Given the description of an element on the screen output the (x, y) to click on. 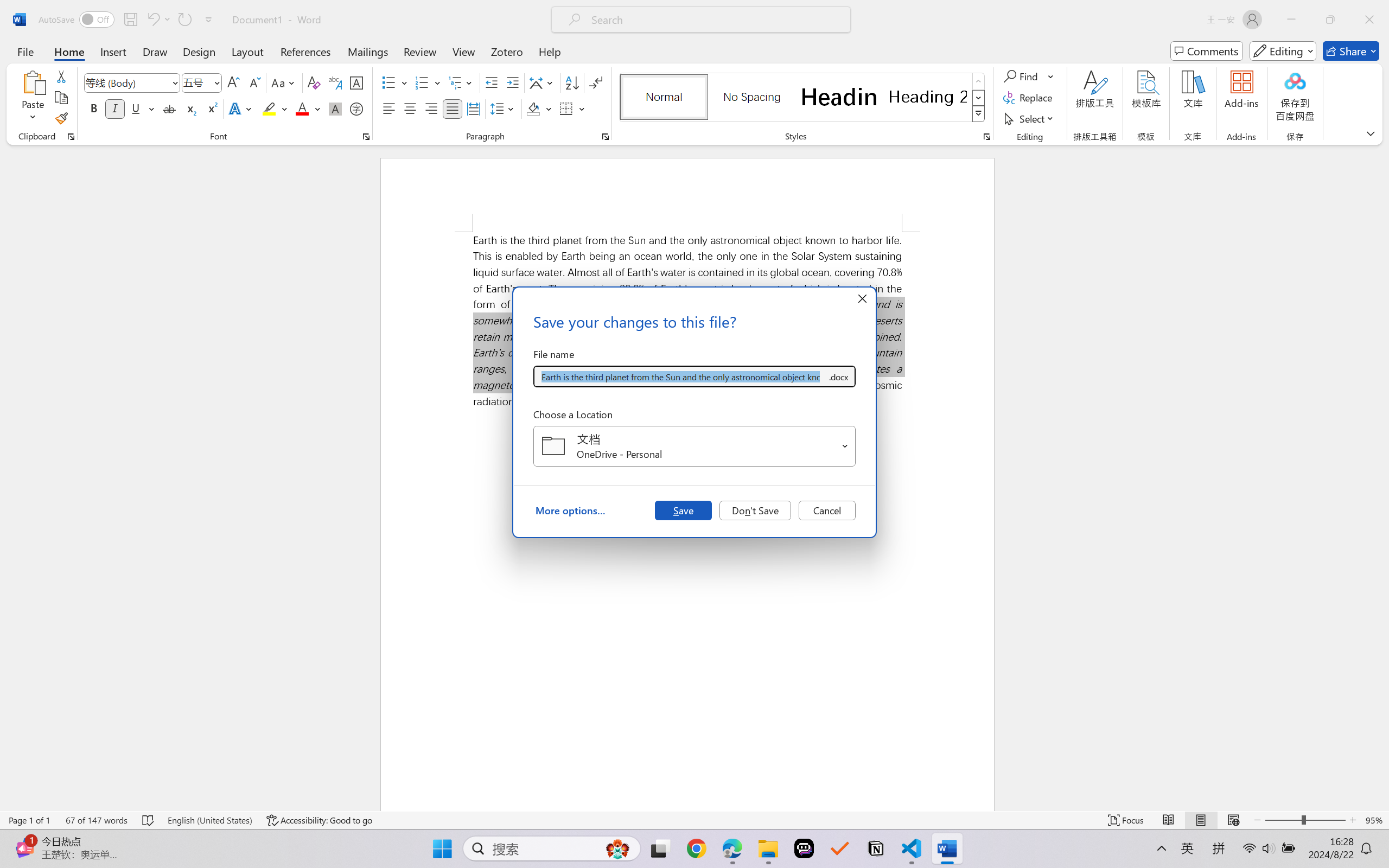
Shading (539, 108)
Superscript (210, 108)
Clear Formatting (313, 82)
Save as type (837, 376)
Paragraph... (605, 136)
Text Effects and Typography (241, 108)
Line and Paragraph Spacing (503, 108)
